Given the description of an element on the screen output the (x, y) to click on. 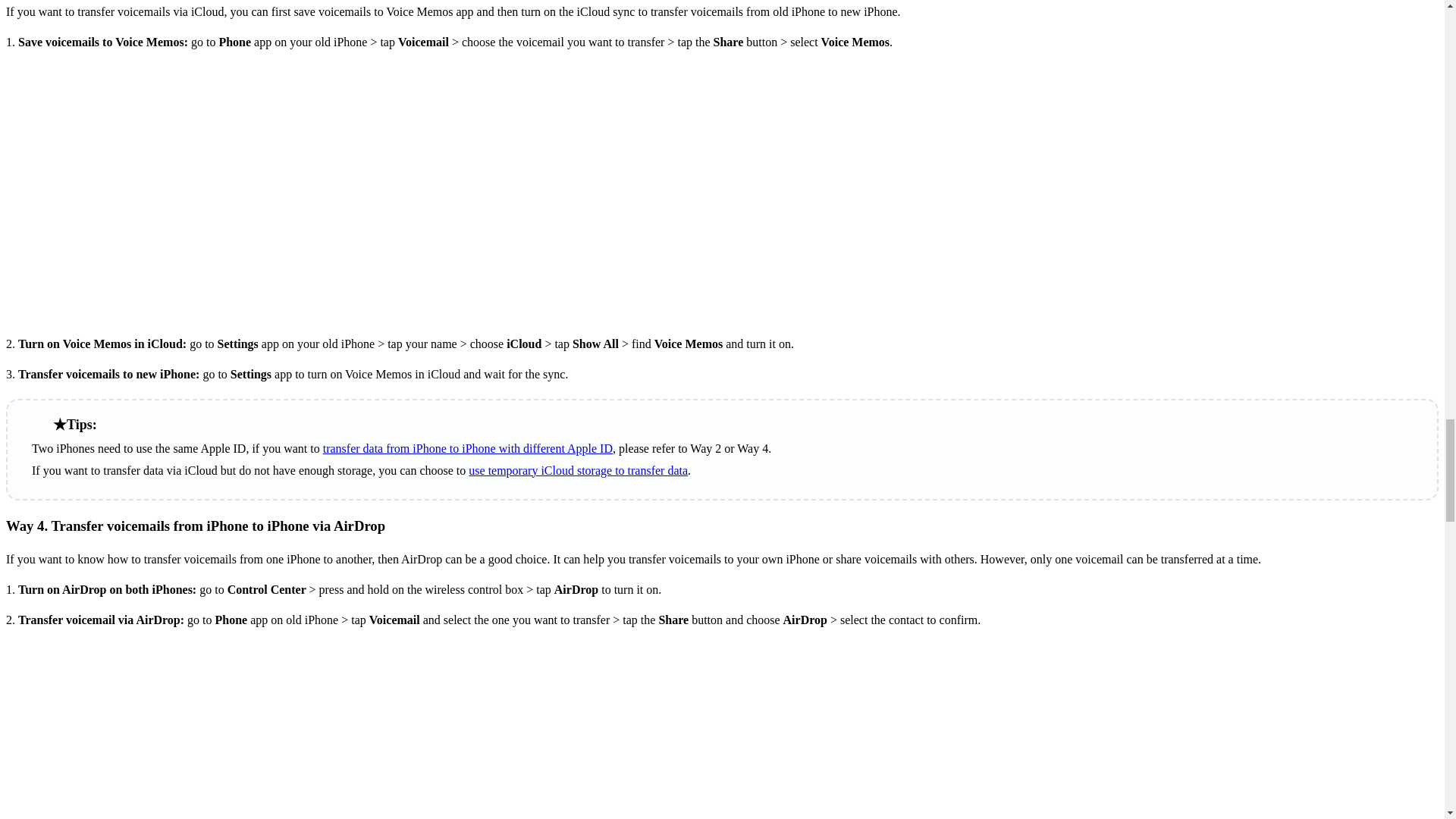
transfer data from iPhone to iPhone with different Apple ID (467, 448)
use temporary iCloud storage to transfer data (577, 470)
